Given the description of an element on the screen output the (x, y) to click on. 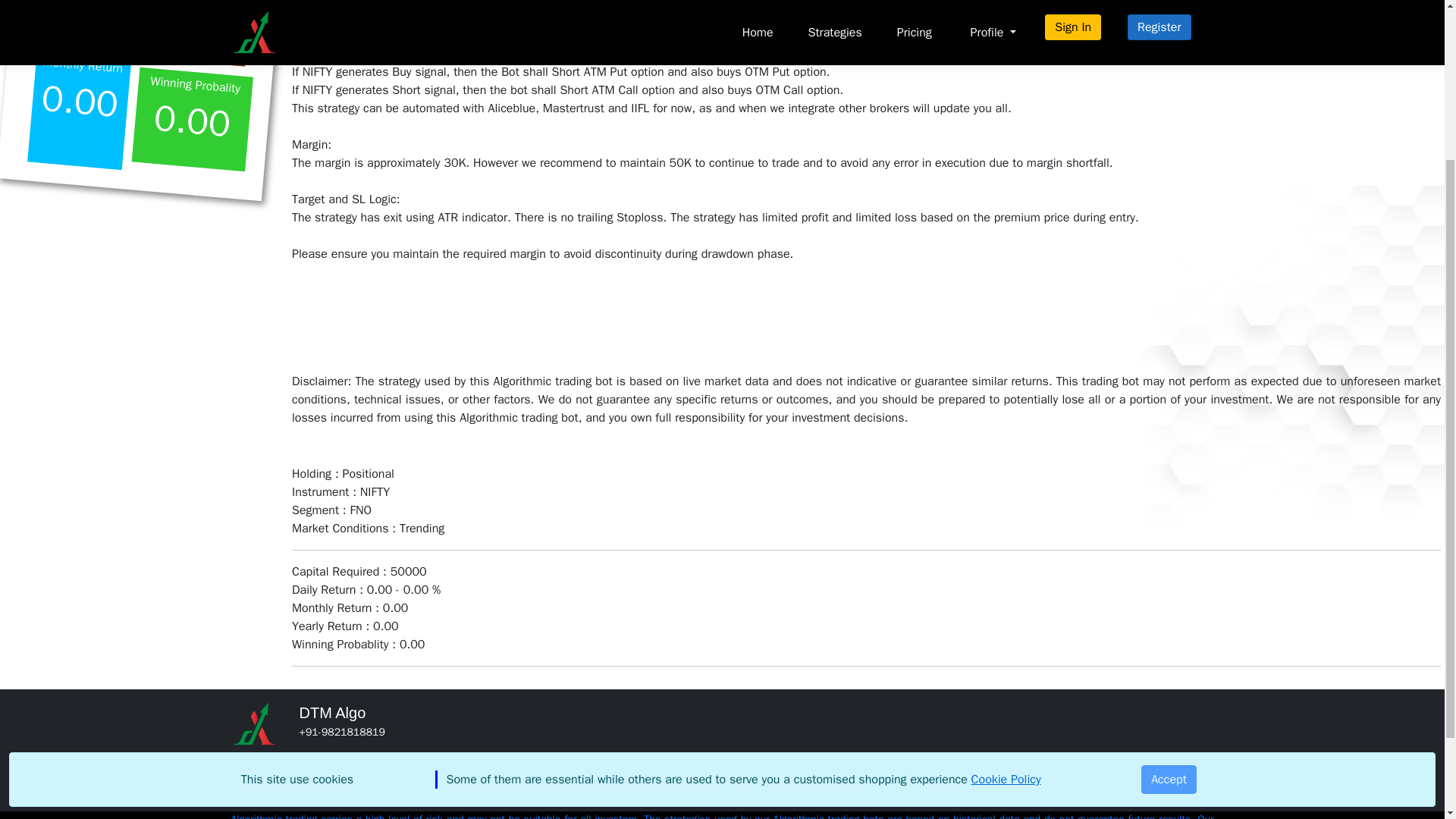
FAQ (1066, 769)
Contact US (445, 784)
Create API (756, 784)
Partner with US (756, 769)
About US (445, 769)
Become postpaid member (756, 798)
Terms and Conditions (1066, 798)
Cookie Policy (1006, 567)
Blog (1066, 784)
Accept (1168, 567)
